Given the description of an element on the screen output the (x, y) to click on. 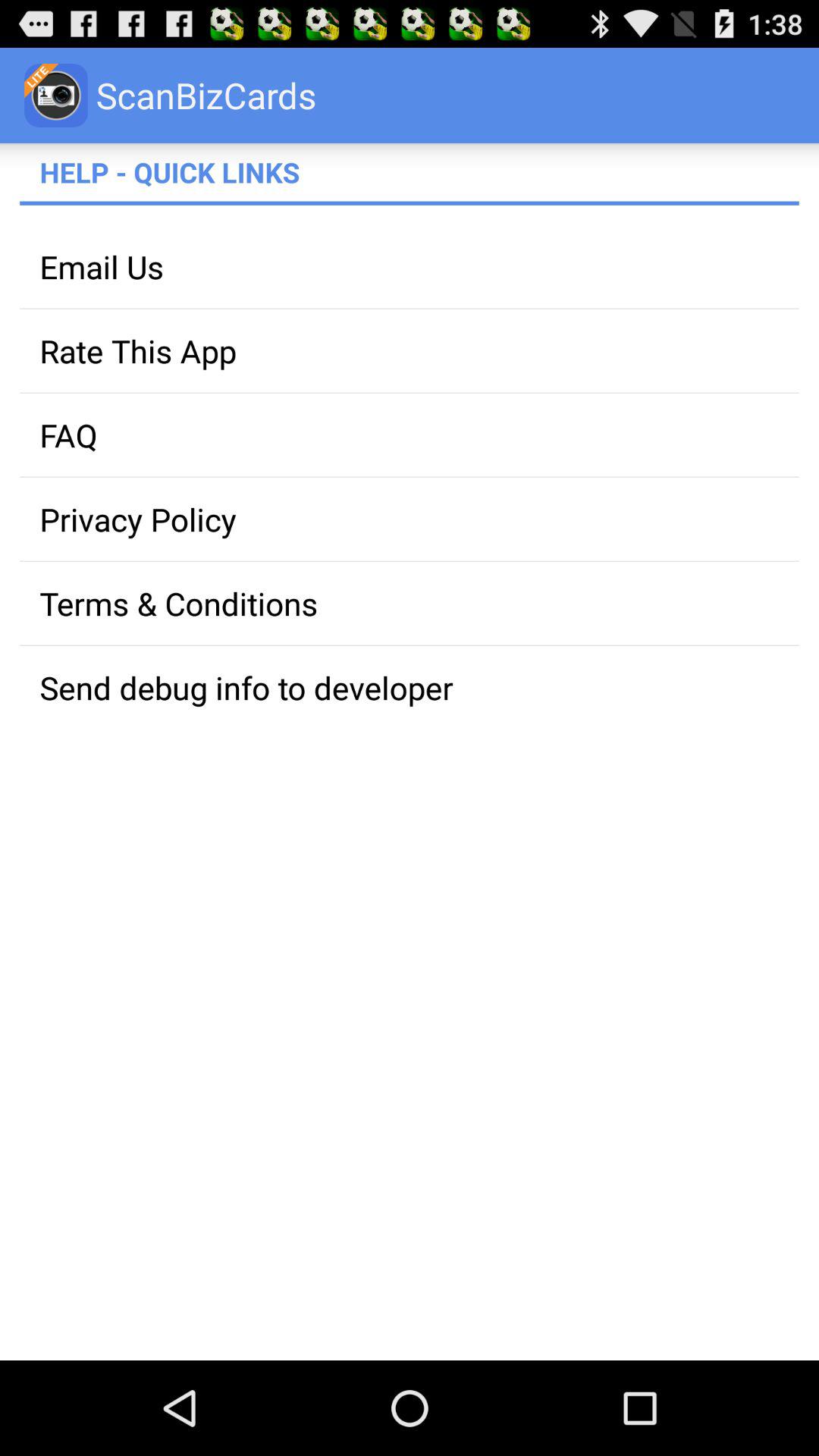
scroll to rate this app item (409, 350)
